Given the description of an element on the screen output the (x, y) to click on. 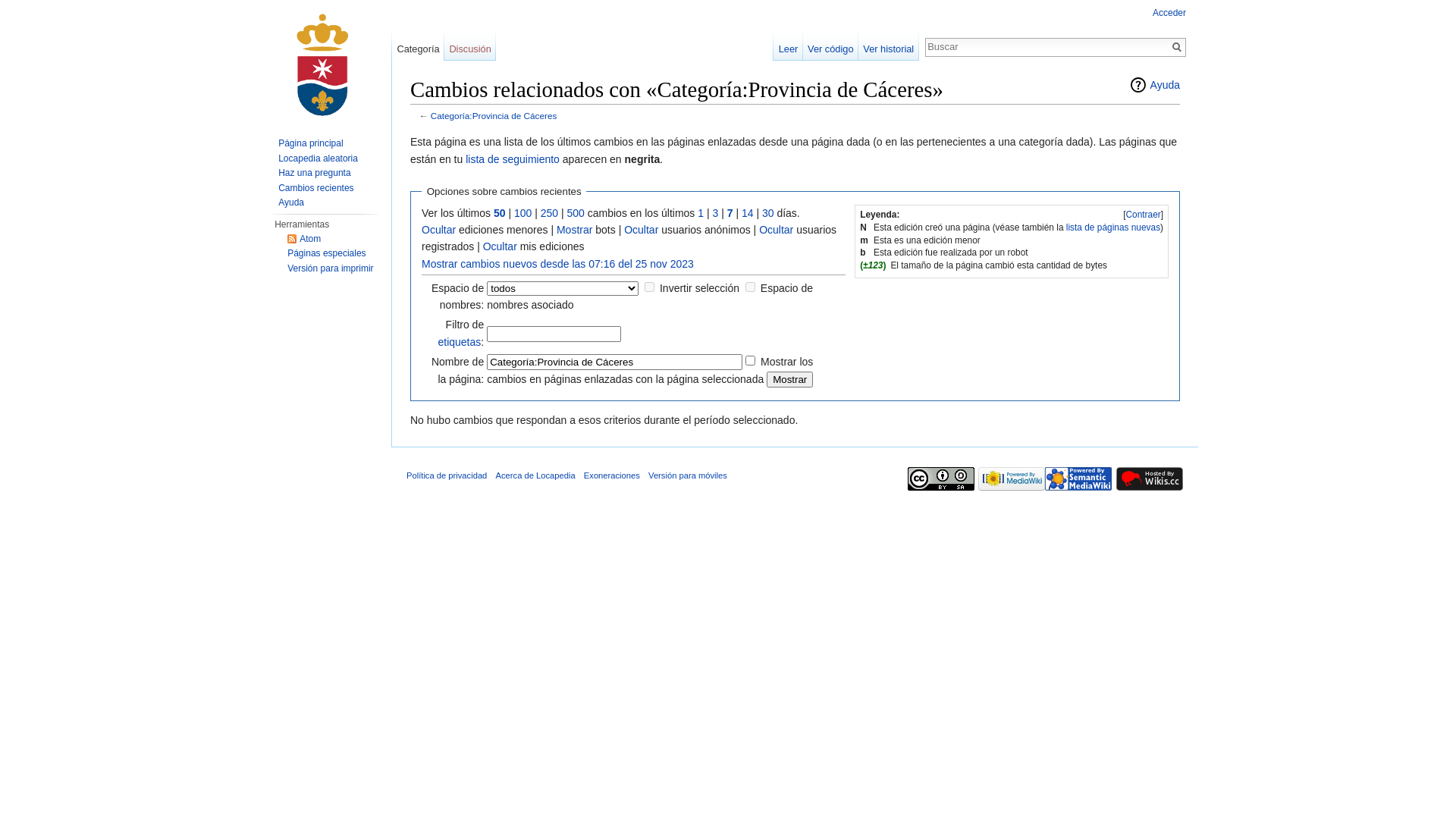
Ir Element type: text (1176, 46)
Cambios recientes Element type: text (315, 187)
Locapedia aleatoria Element type: text (317, 158)
etiquetas Element type: text (458, 341)
50 Element type: text (499, 212)
Mostrar Element type: text (789, 379)
Leer Element type: text (787, 45)
Buscar en Locapedia [alt-shift-f] Element type: hover (1046, 45)
Contraer Element type: text (1142, 214)
500 Element type: text (575, 212)
Ayuda Element type: text (291, 202)
Exoneraciones Element type: text (611, 475)
Mostrar Element type: text (574, 229)
30 Element type: text (768, 212)
Ver historial Element type: text (888, 45)
Mostrar cambios nuevos desde las 07:16 del 25 nov 2023 Element type: text (557, 263)
Ayuda Element type: text (1154, 84)
Atom Element type: text (303, 238)
Acerca de Locapedia Element type: text (535, 475)
14 Element type: text (747, 212)
1 Element type: text (700, 212)
Acceder Element type: text (1169, 12)
lista de seguimiento Element type: text (512, 159)
100 Element type: text (522, 212)
250 Element type: text (549, 212)
Ocultar Element type: text (438, 229)
Haz una pregunta Element type: text (314, 172)
Ocultar Element type: text (500, 246)
7 Element type: text (730, 212)
3 Element type: text (715, 212)
Ocultar Element type: text (641, 229)
Ocultar Element type: text (776, 229)
